Given the description of an element on the screen output the (x, y) to click on. 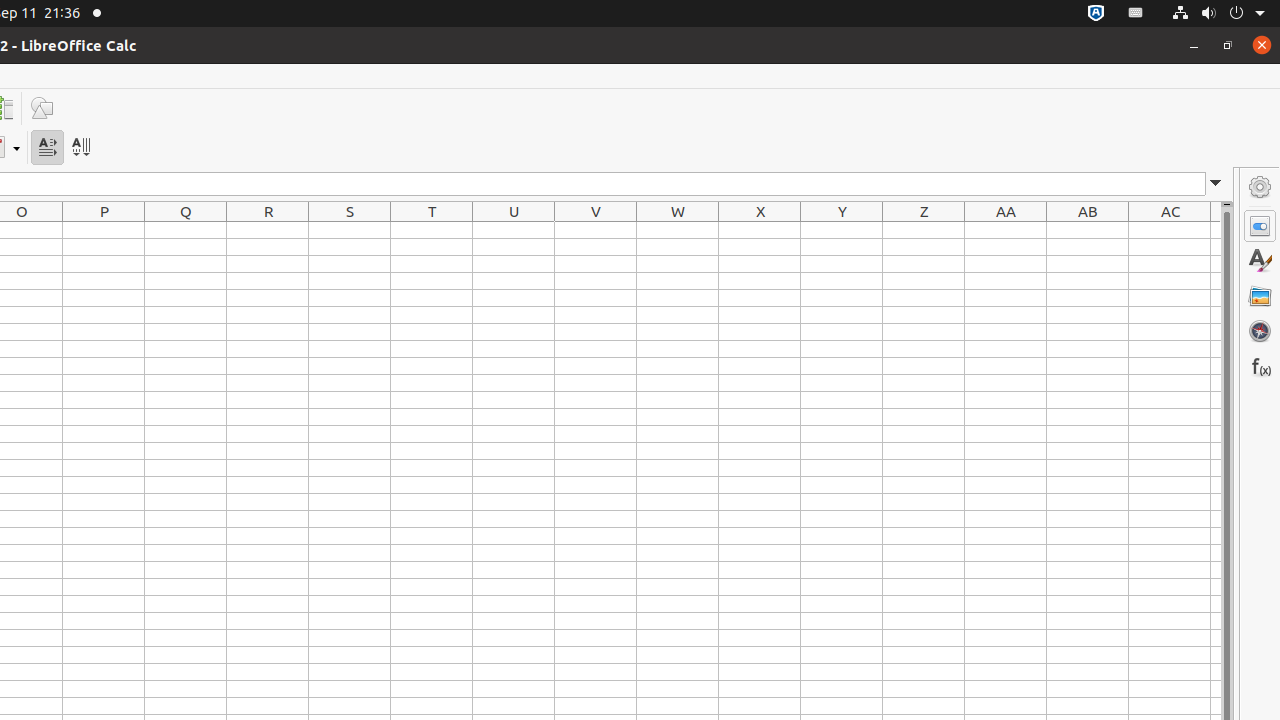
Navigator Element type: radio-button (1260, 331)
Q1 Element type: table-cell (186, 230)
